Given the description of an element on the screen output the (x, y) to click on. 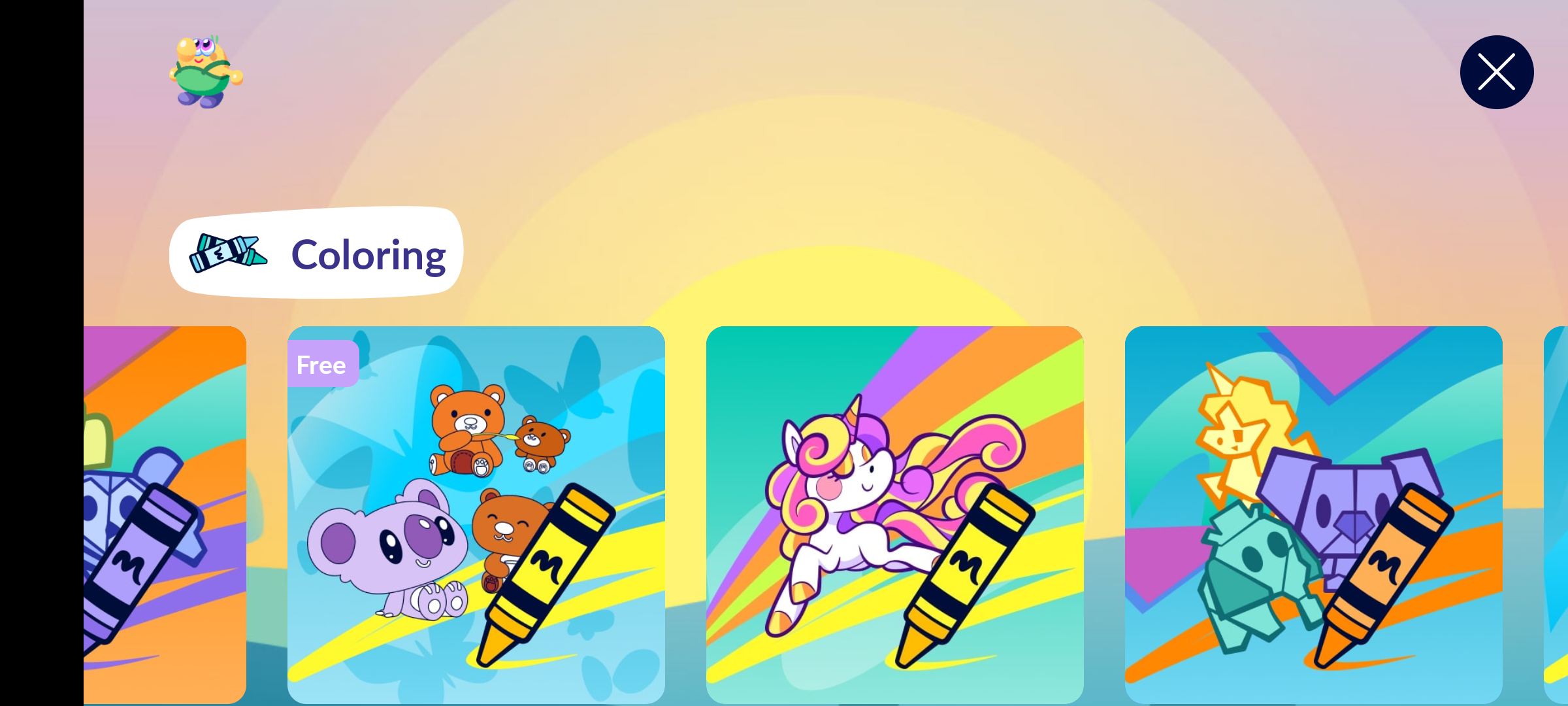
Profile icon (205, 71)
Featured Content Free (475, 514)
Featured Content (894, 514)
Featured Content (1313, 514)
